Given the description of an element on the screen output the (x, y) to click on. 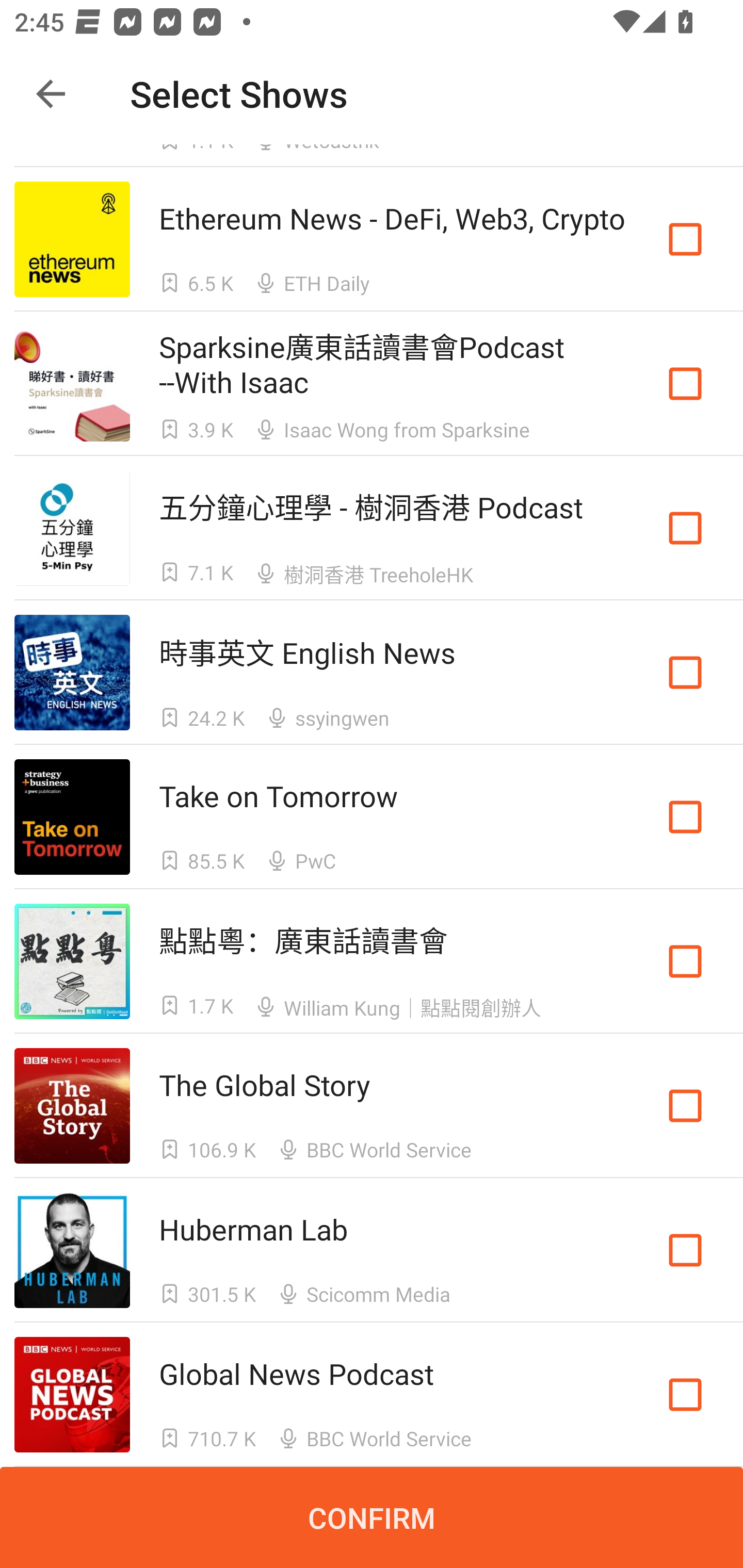
Navigate up (50, 93)
Take on Tomorrow Take on Tomorrow  85.5 K  PwC (371, 816)
CONFIRM (371, 1517)
